Given the description of an element on the screen output the (x, y) to click on. 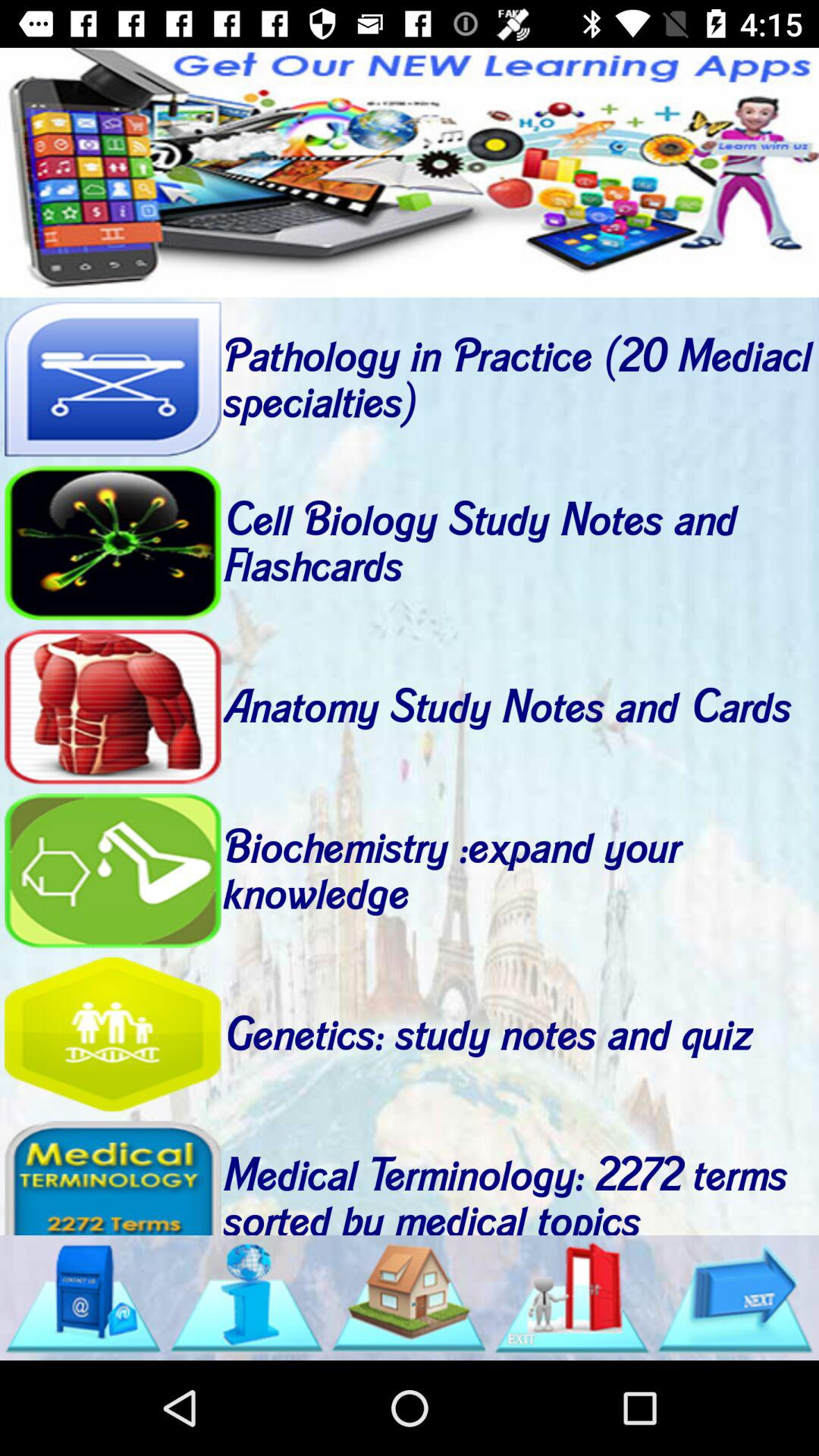
go to next (734, 1297)
